Given the description of an element on the screen output the (x, y) to click on. 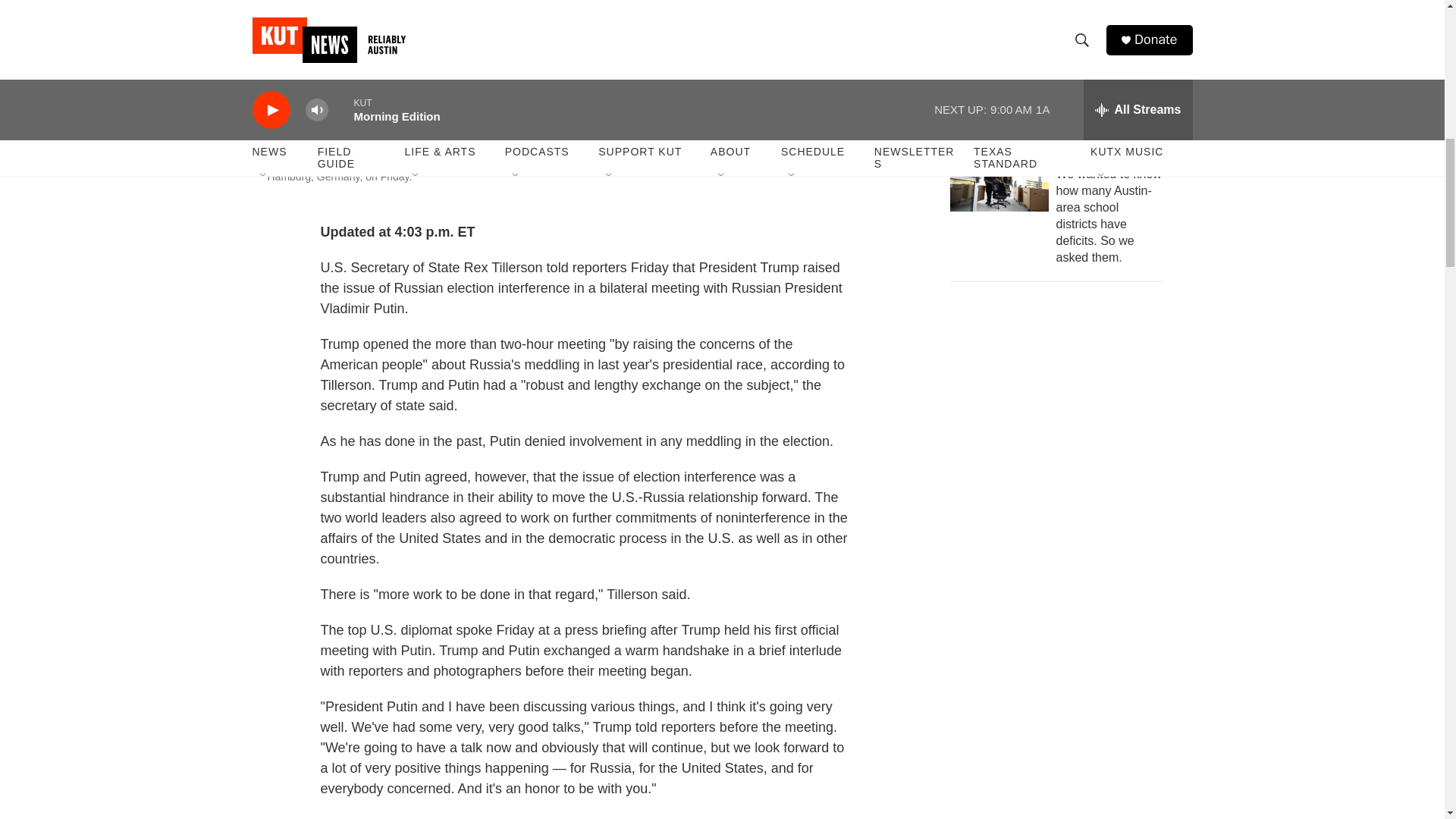
3rd party ad content (1062, 626)
3rd party ad content (365, 407)
